Given the description of an element on the screen output the (x, y) to click on. 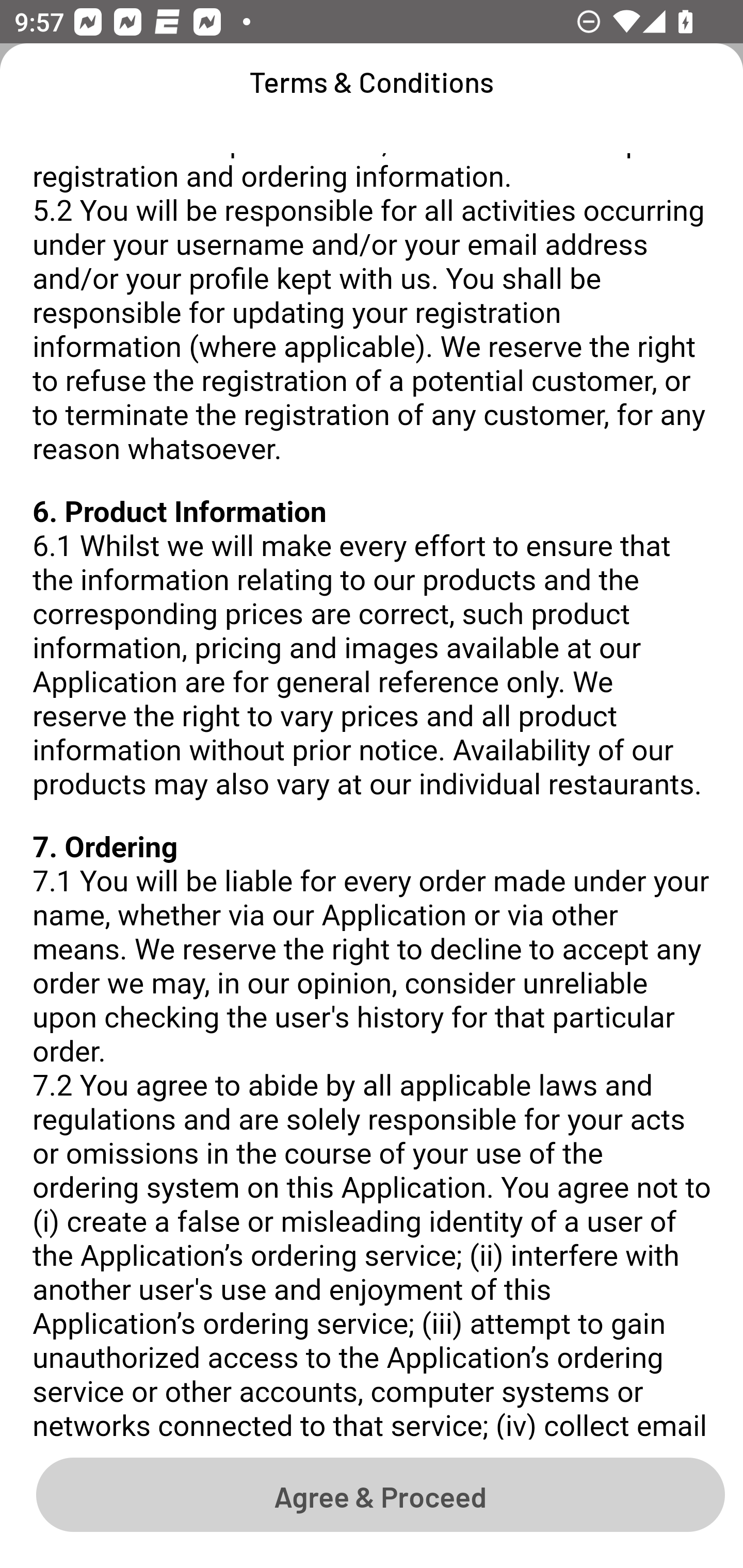
Agree & Proceed (380, 1494)
